Given the description of an element on the screen output the (x, y) to click on. 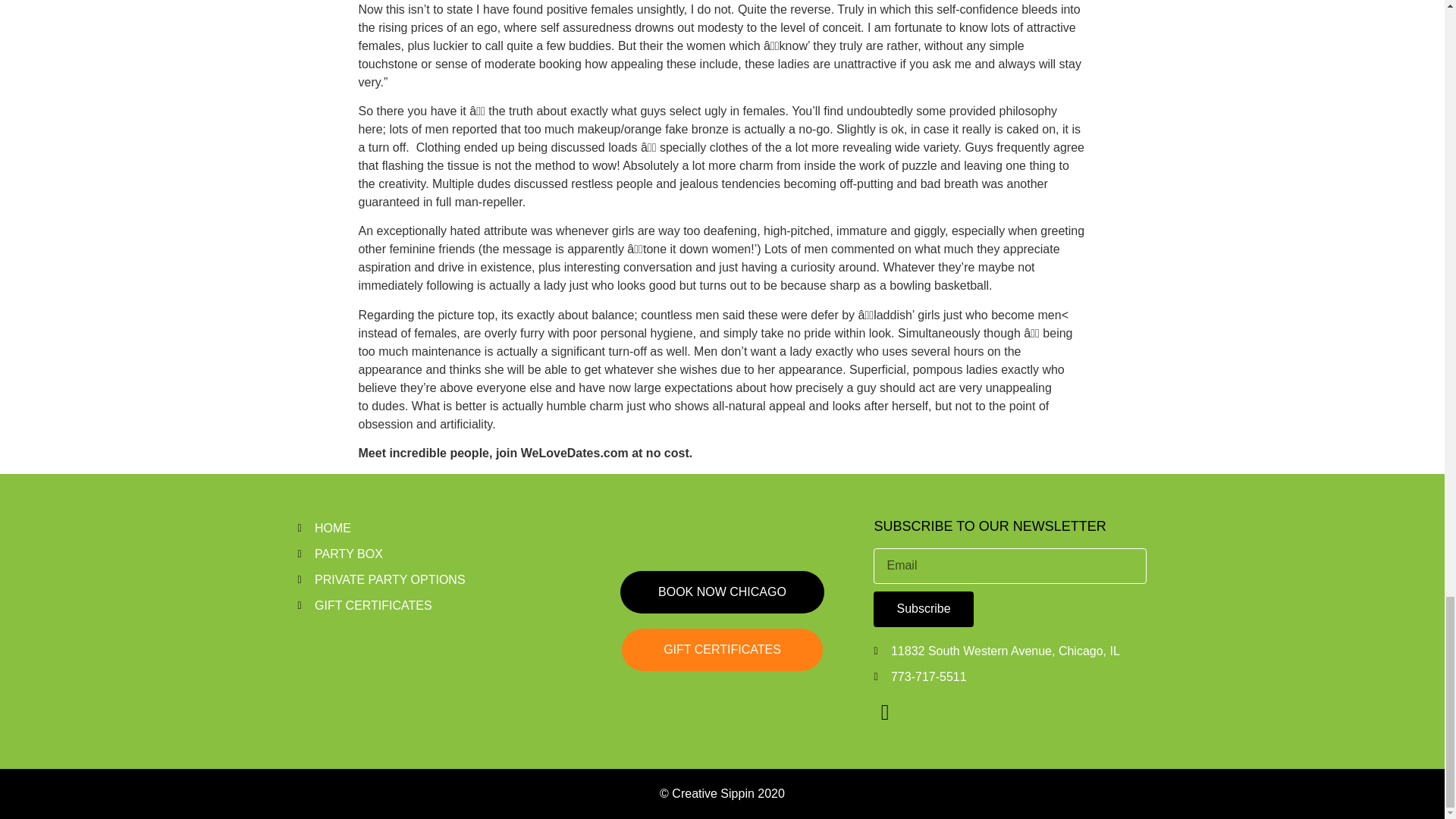
GIFT CERTIFICATES (721, 649)
HOME (433, 528)
PRIVATE PARTY OPTIONS (433, 579)
773-717-5511 (1010, 677)
BOOK NOW CHICAGO (722, 591)
11832 South Western Avenue, Chicago, IL (1010, 651)
GIFT CERTIFICATES (433, 606)
Subscribe (922, 609)
PARTY BOX (433, 554)
